Given the description of an element on the screen output the (x, y) to click on. 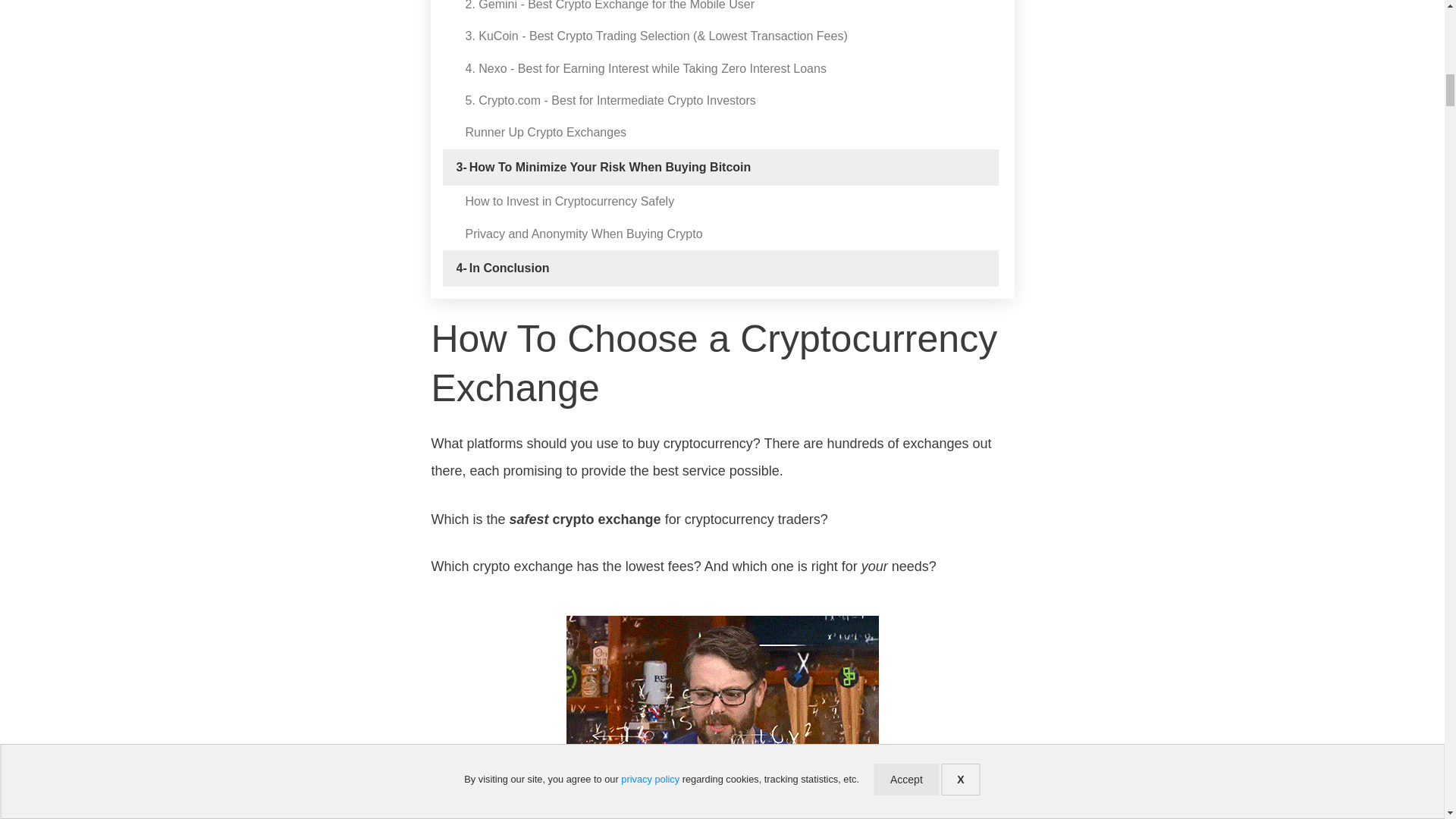
Privacy and Anonymity When Buying Crypto (584, 234)
How to Invest in Cryptocurrency Safely (570, 201)
How To Minimize Your Risk When Buying Bitcoin (609, 167)
2. Gemini - Best Crypto Exchange for the Mobile User (610, 6)
Runner Up Crypto Exchanges (546, 132)
Privacy and Anonymity When Buying Crypto (584, 234)
How To Minimize Your Risk When Buying Bitcoin (609, 167)
Runner Up Crypto Exchanges (546, 132)
5. Crypto.com - Best for Intermediate Crypto Investors (610, 100)
How to Invest in Cryptocurrency Safely (570, 201)
In Conclusion (509, 268)
2. Gemini - Best Crypto Exchange for the Mobile User (610, 6)
In Conclusion (509, 268)
